Given the description of an element on the screen output the (x, y) to click on. 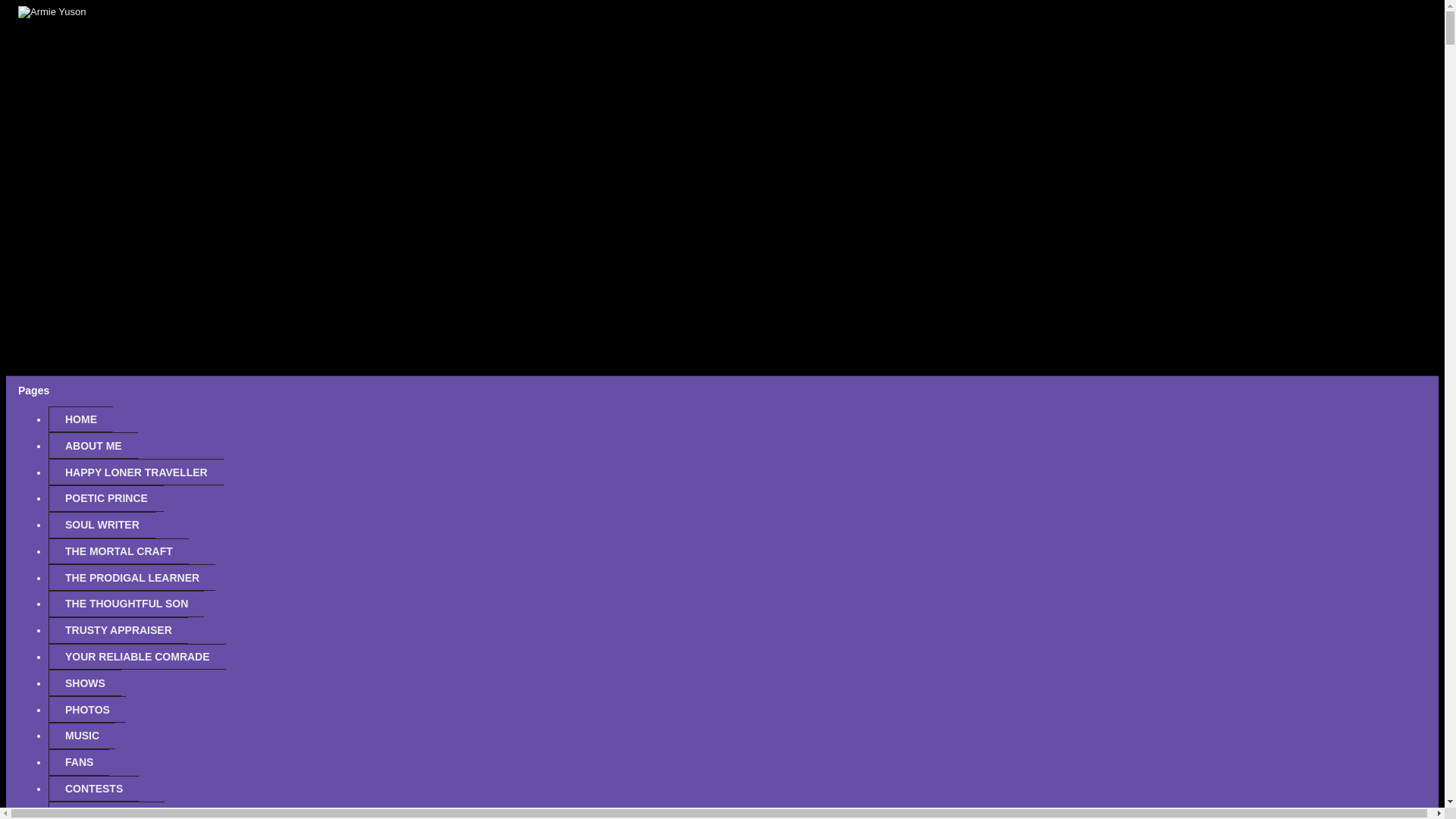
THE THOUGHTFUL SON (125, 603)
CONTESTS (93, 788)
THE PRODIGAL LEARNER (131, 577)
PHOTOS (86, 709)
TRUSTY APPRAISER (117, 630)
ABOUT ME (93, 445)
HOME (80, 419)
MEMORABILIAS (106, 810)
SOUL WRITER (101, 524)
MUSIC (81, 735)
FANS (78, 762)
THE MORTAL CRAFT (118, 551)
SHOWS (84, 682)
HAPPY LONER TRAVELLER (136, 471)
YOUR RELIABLE COMRADE (136, 656)
